Given the description of an element on the screen output the (x, y) to click on. 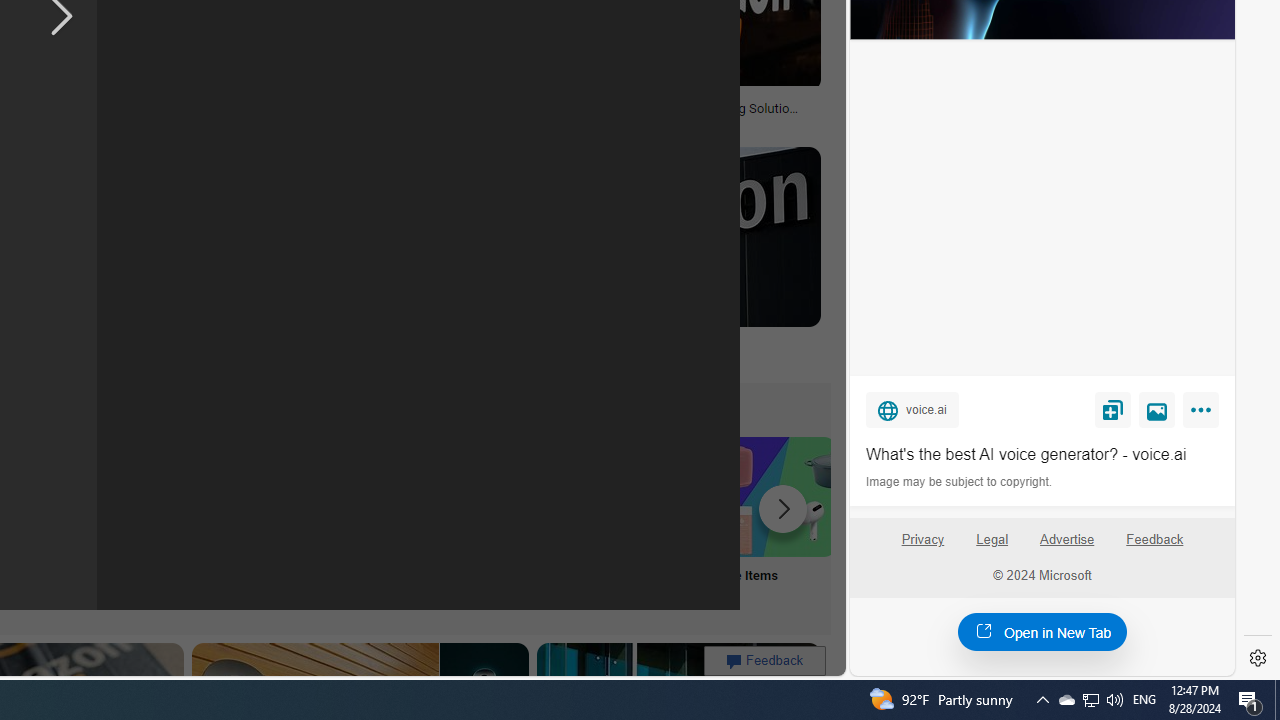
Prime Shopping Online (380, 521)
Amazon Mini TV (116, 496)
Amazon Prime Label Prime Label (511, 521)
Amazon Online Shopping Homepage Online Shopping Homepage (248, 521)
Amazon Sale Items Sale Items (775, 521)
Amazon Prime Label (511, 496)
Feedback (1155, 539)
Online Shopping Homepage (248, 521)
Privacy (922, 539)
Scroll more suggestions right (783, 508)
